Given the description of an element on the screen output the (x, y) to click on. 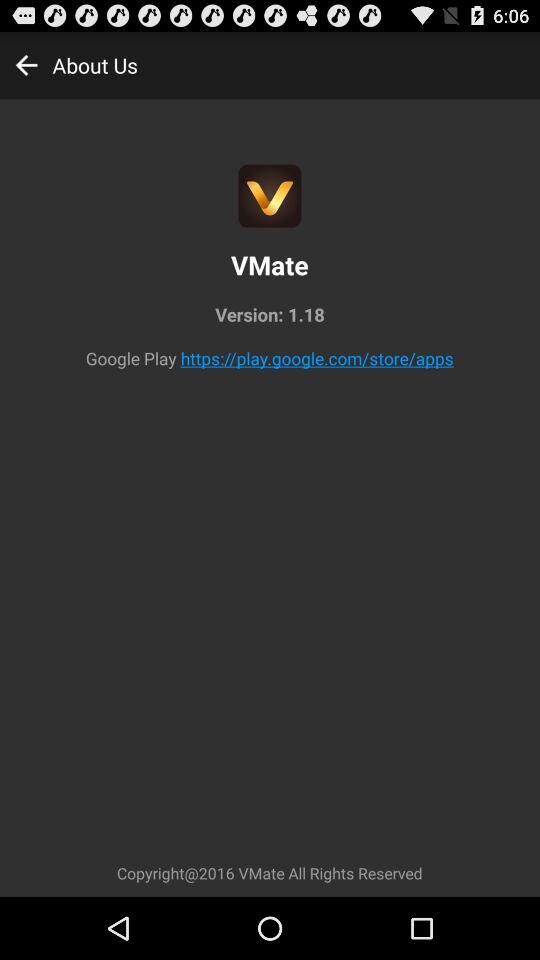
turn on icon next to about us (26, 64)
